Given the description of an element on the screen output the (x, y) to click on. 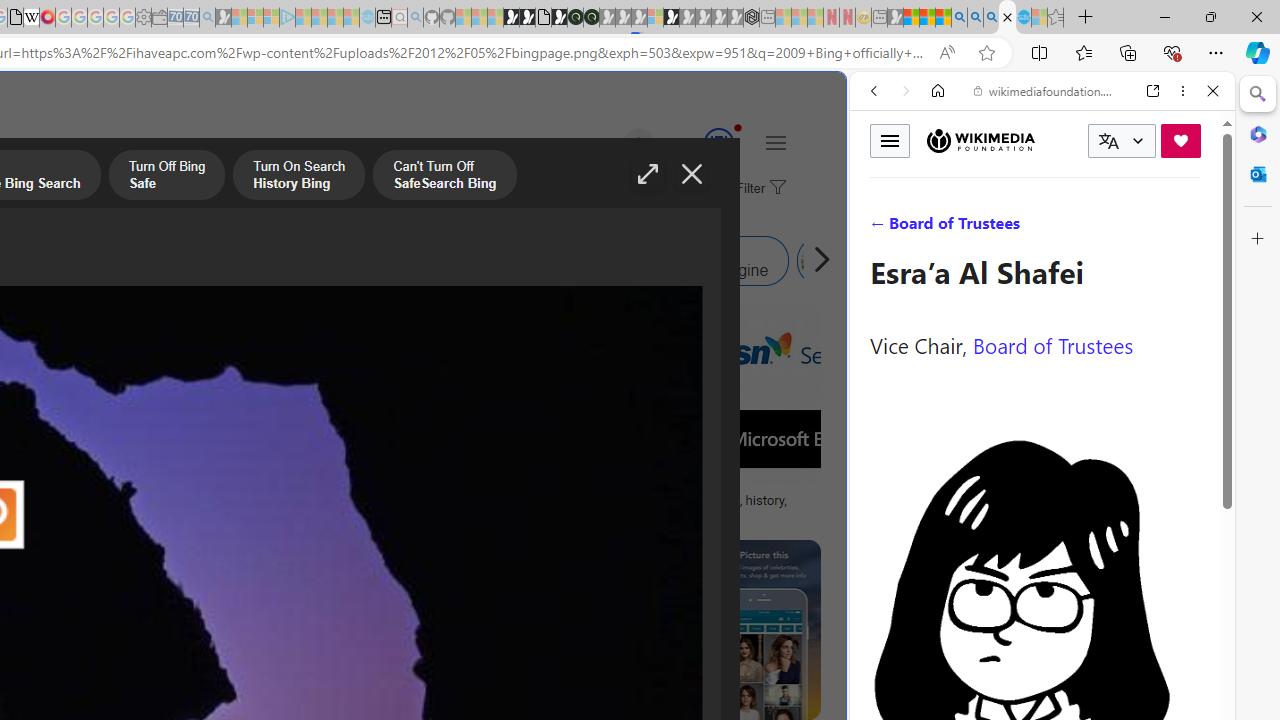
Sign in to your account - Sleeping (655, 17)
Target page - Wikipedia (31, 17)
Board of Trustees (1053, 344)
MediaWiki (47, 17)
Bing AI - Search (959, 17)
Bing Image Search Similar Images (292, 260)
New tab - Sleeping (879, 17)
Global web icon (888, 669)
2009 Bing officially replaced Live Search on June 3 - Search (975, 17)
